Given the description of an element on the screen output the (x, y) to click on. 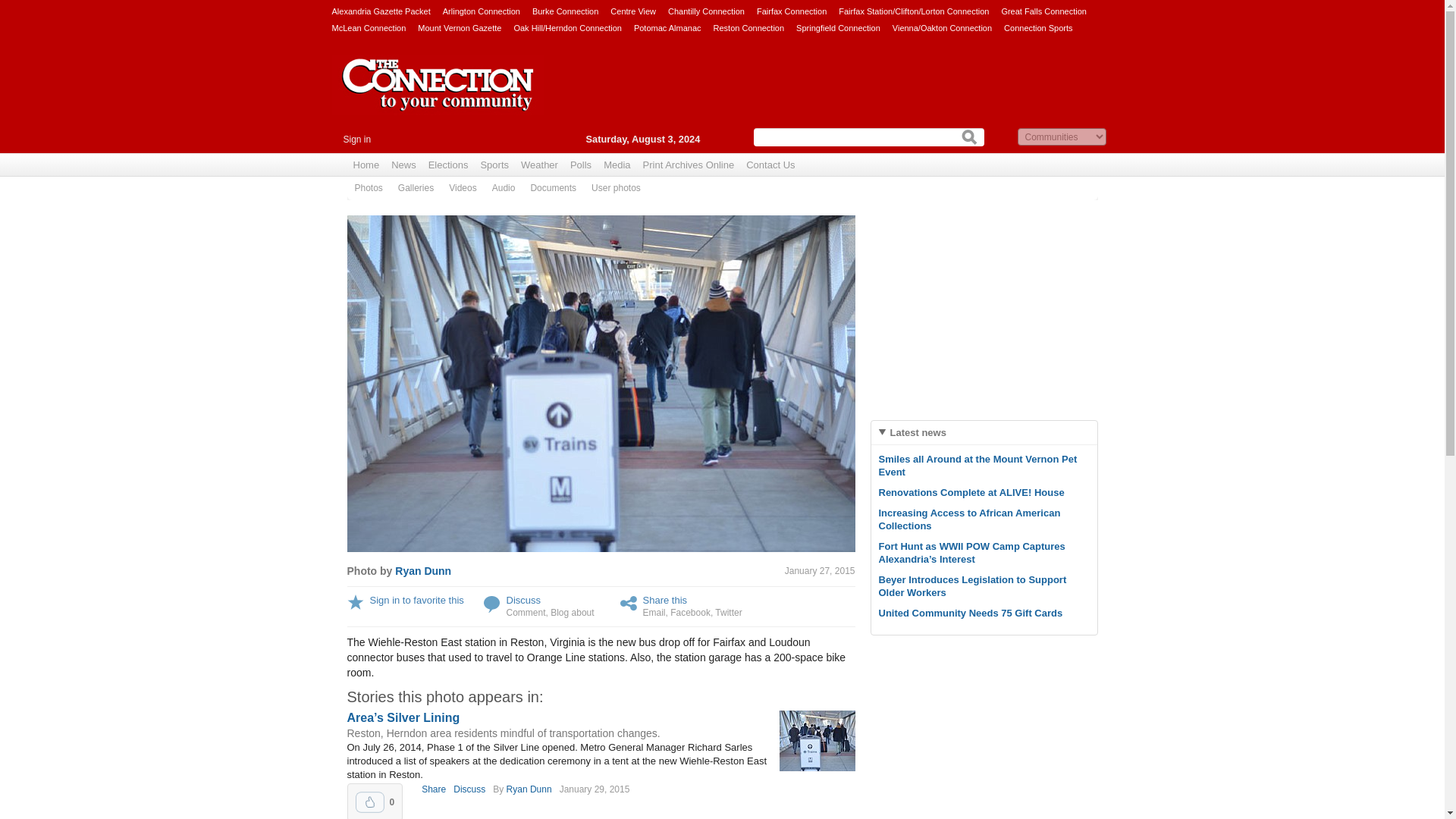
Reston Connection (748, 27)
Burke Connection (565, 11)
Alexandria Gazette Packet (380, 11)
Great Falls Connection (1043, 11)
Arlington Connection (480, 11)
Mount Vernon Gazette (458, 27)
Connection Sports (1038, 27)
News (403, 164)
Sign in (356, 139)
Elections (448, 164)
Centre View (633, 11)
McLean Connection (368, 27)
Chantilly Connection (706, 11)
The Connection (437, 96)
Potomac Almanac (667, 27)
